Given the description of an element on the screen output the (x, y) to click on. 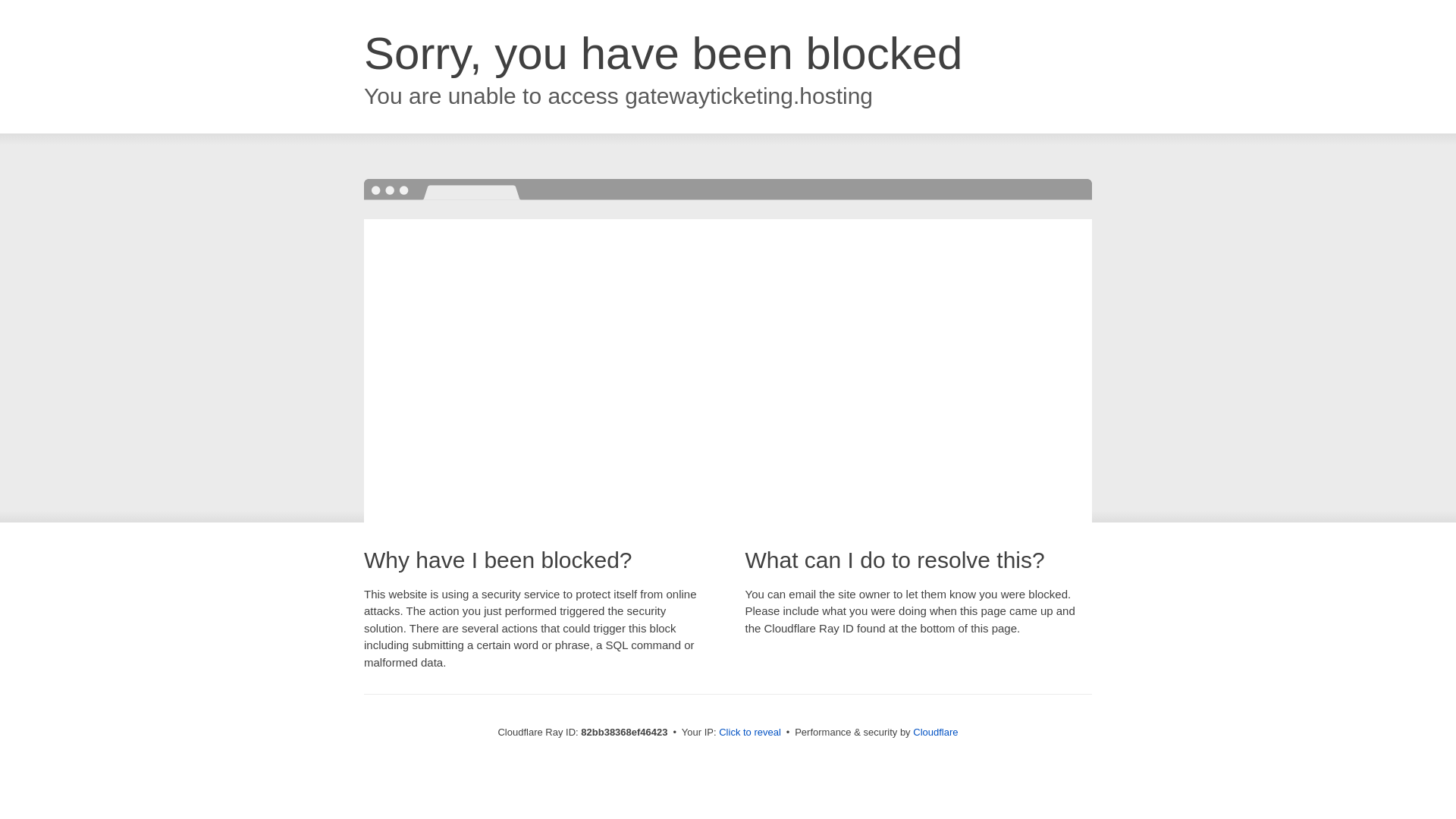
Click to reveal Element type: text (749, 732)
Cloudflare Element type: text (935, 731)
